Given the description of an element on the screen output the (x, y) to click on. 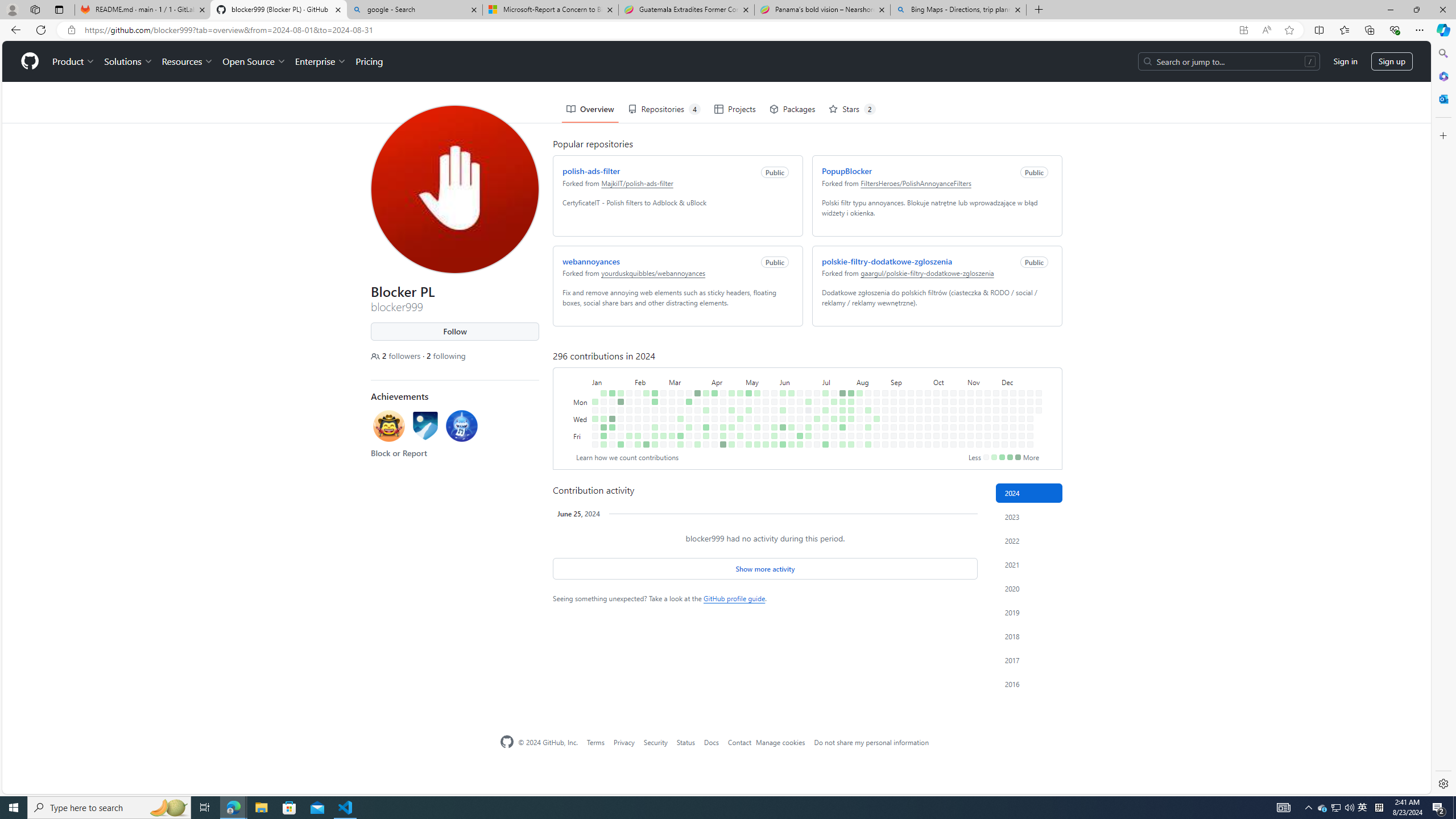
No contributions on November 26th. (993, 369)
No contributions on September 21st. (910, 444)
No contributions on August 22nd. (873, 386)
No contributions on October 10th. (933, 386)
Favorites bar (715, 49)
Docs (711, 741)
4 contributions on July 13th. (825, 444)
No contributions on June 23rd. (806, 351)
No contributions on May 22nd. (763, 377)
2 contributions on June 2nd. (780, 351)
No contributions on October 1st. (925, 369)
Contact (739, 741)
April (725, 339)
No contributions on February 27th. (660, 369)
